Given the description of an element on the screen output the (x, y) to click on. 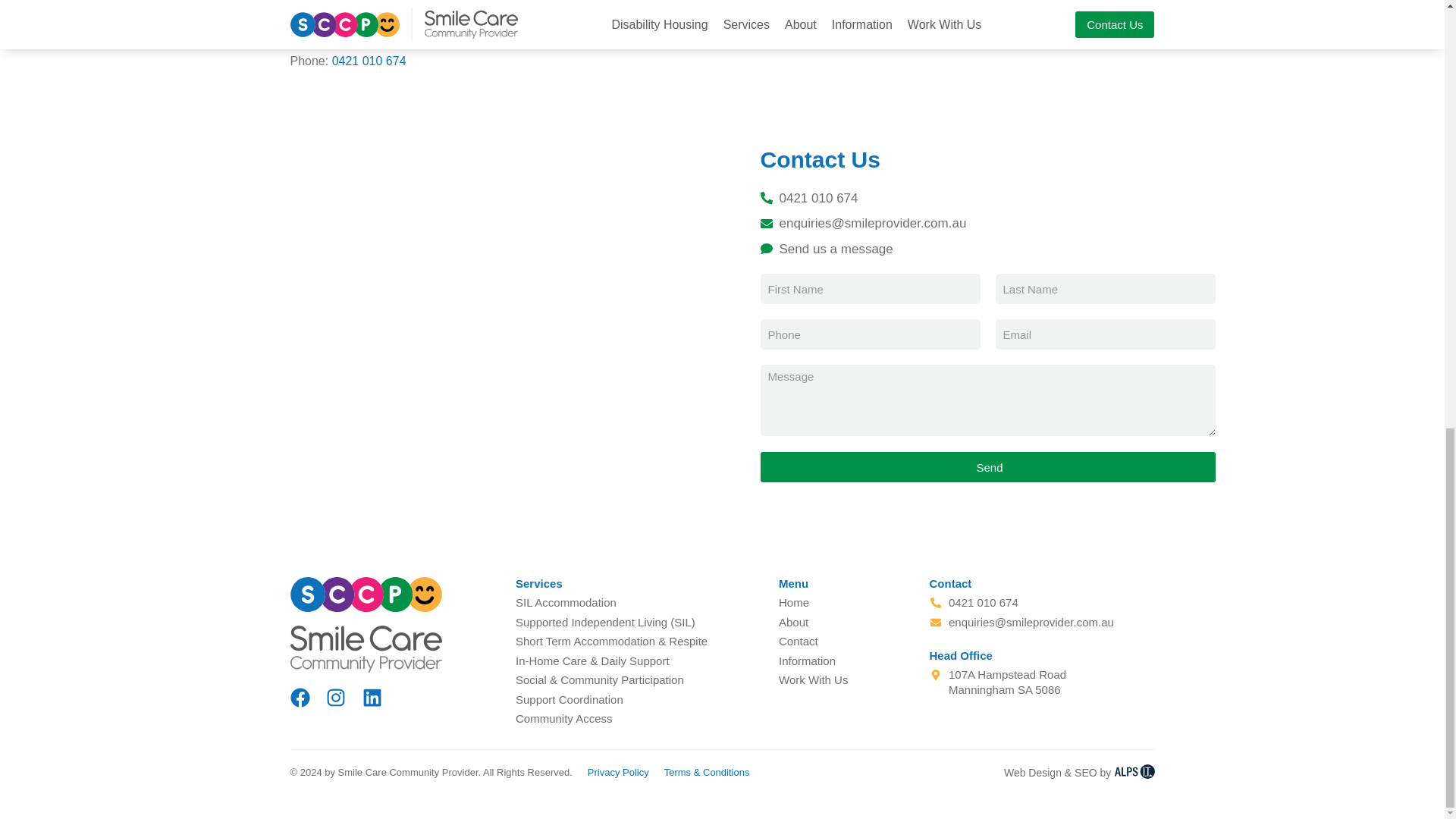
0421 010 674 (368, 60)
0421 010 674 (1083, 198)
Send (987, 467)
